Given the description of an element on the screen output the (x, y) to click on. 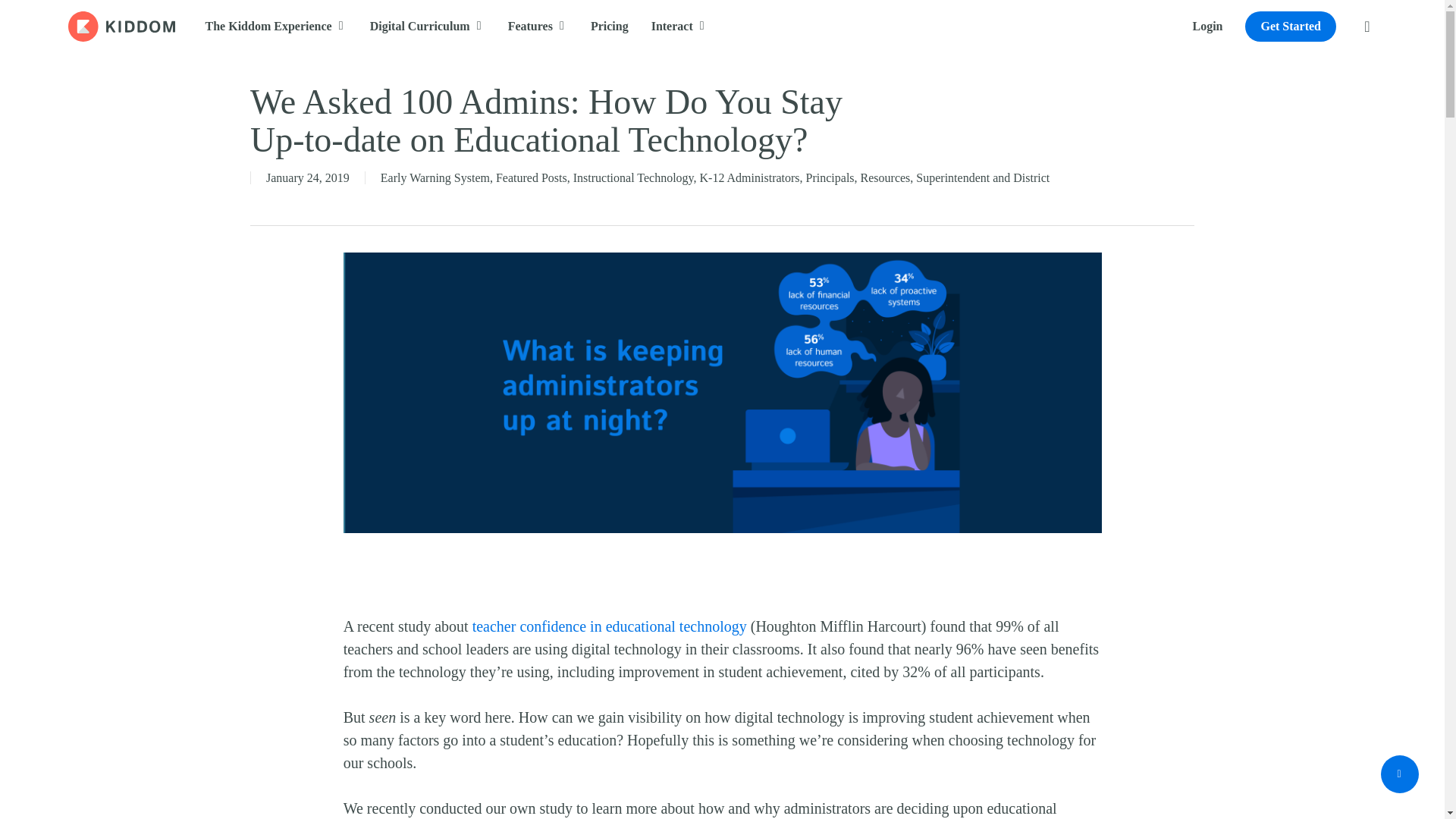
Interact (679, 26)
The Kiddom Experience (275, 26)
Login (1206, 26)
Digital Curriculum (427, 26)
search (1366, 26)
Get Started (1290, 26)
Pricing (609, 26)
Features (537, 26)
